Given the description of an element on the screen output the (x, y) to click on. 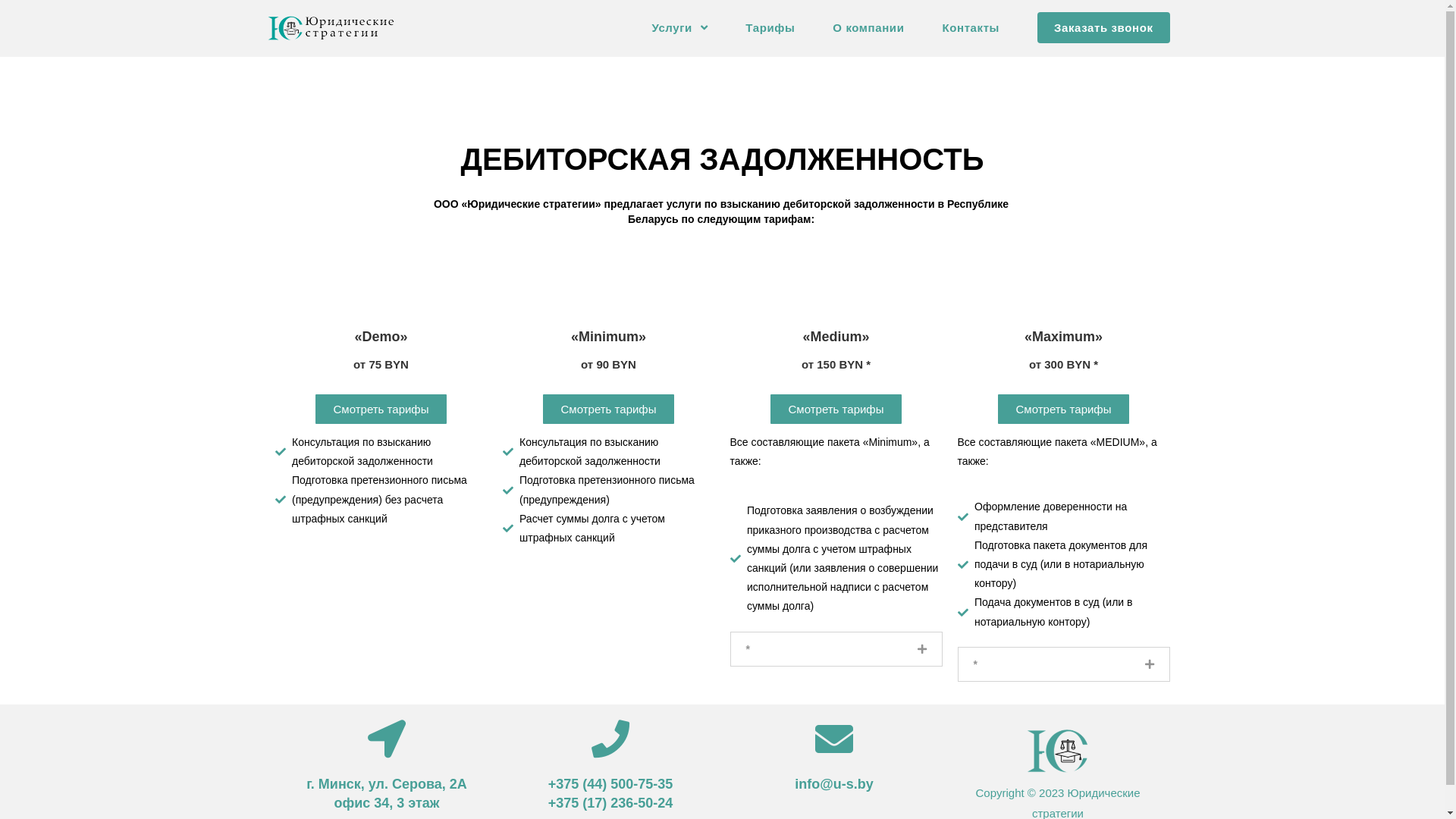
* Element type: text (747, 649)
* Element type: text (975, 664)
